Given the description of an element on the screen output the (x, y) to click on. 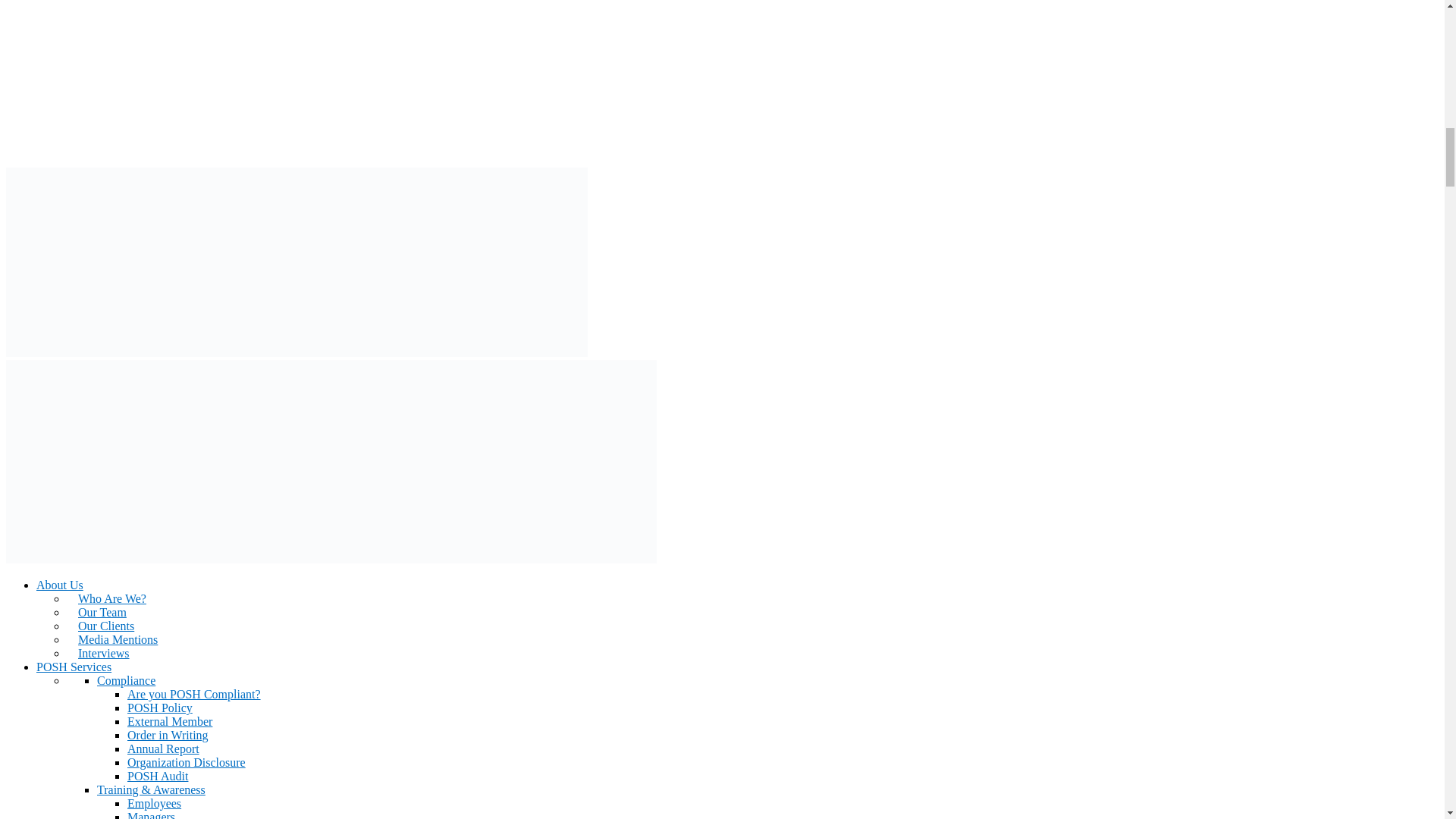
Who Are We? (106, 598)
Order in Writing (168, 735)
Are you POSH Compliant? (194, 694)
POSH Services (74, 666)
Our Clients (99, 625)
Compliance (126, 680)
Media Mentions (111, 639)
Managers (151, 814)
POSH Policy (160, 707)
Interviews (97, 653)
Our Team (96, 612)
External Member (170, 721)
Employees (154, 802)
Annual Report (163, 748)
About Us (59, 584)
